Given the description of an element on the screen output the (x, y) to click on. 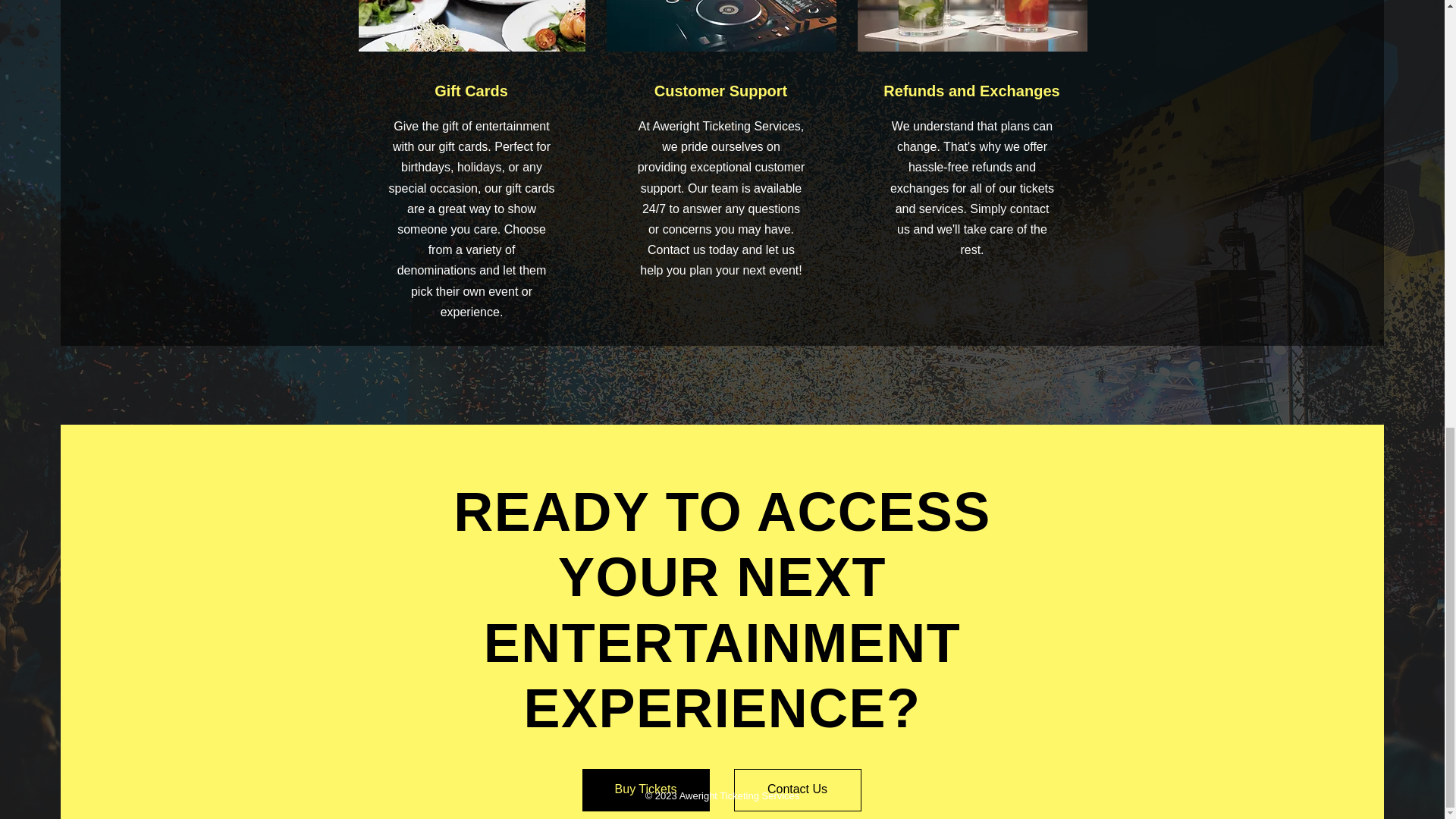
Contact Us (797, 789)
Buy Tickets (646, 789)
